Given the description of an element on the screen output the (x, y) to click on. 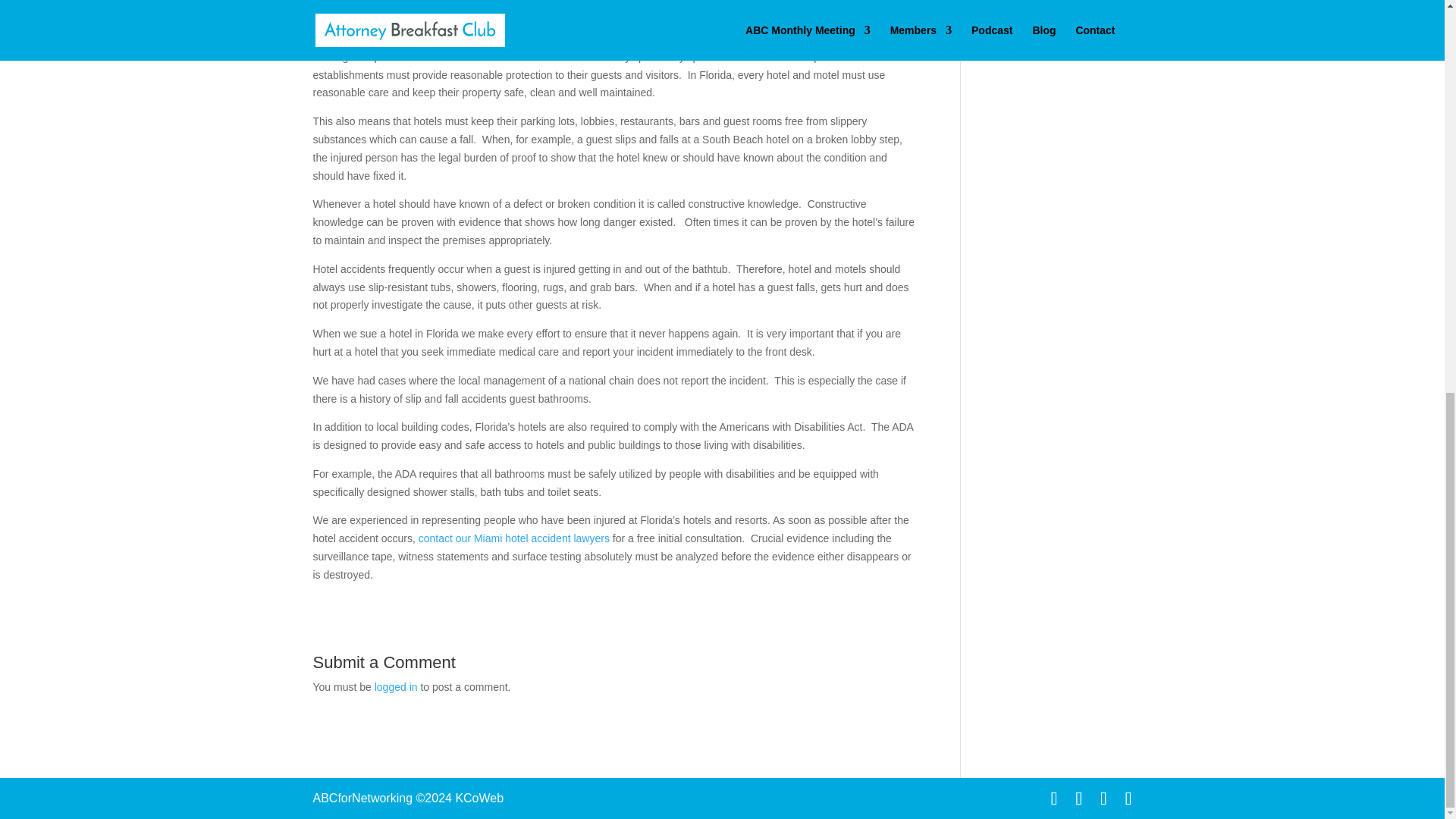
logged in (395, 686)
contact our Miami hotel accident lawyers (514, 538)
